Given the description of an element on the screen output the (x, y) to click on. 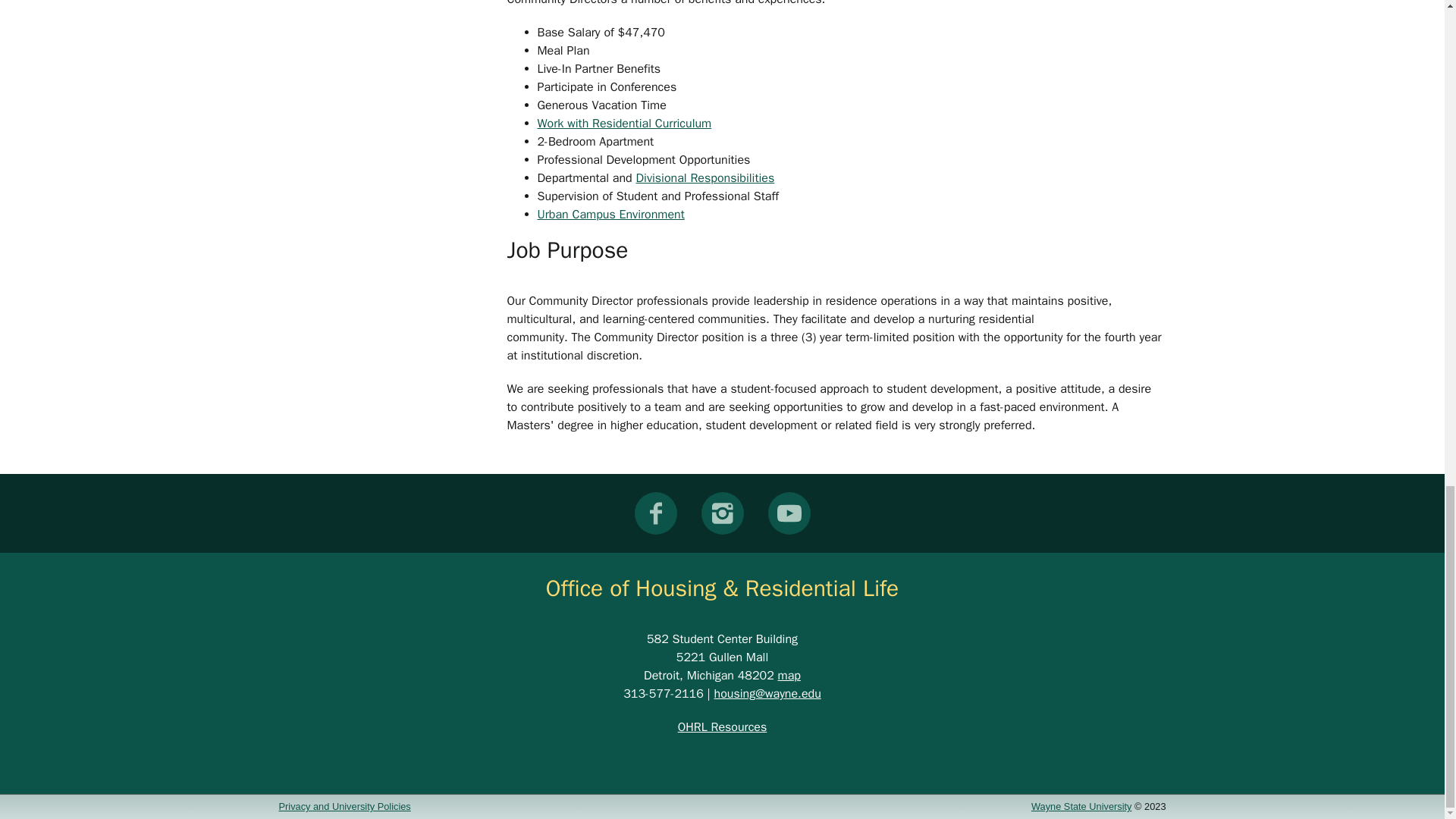
Work with Residential Curriculum (624, 123)
Urban Campus Environment (610, 214)
Divisional Responsibilities (705, 177)
